Given the description of an element on the screen output the (x, y) to click on. 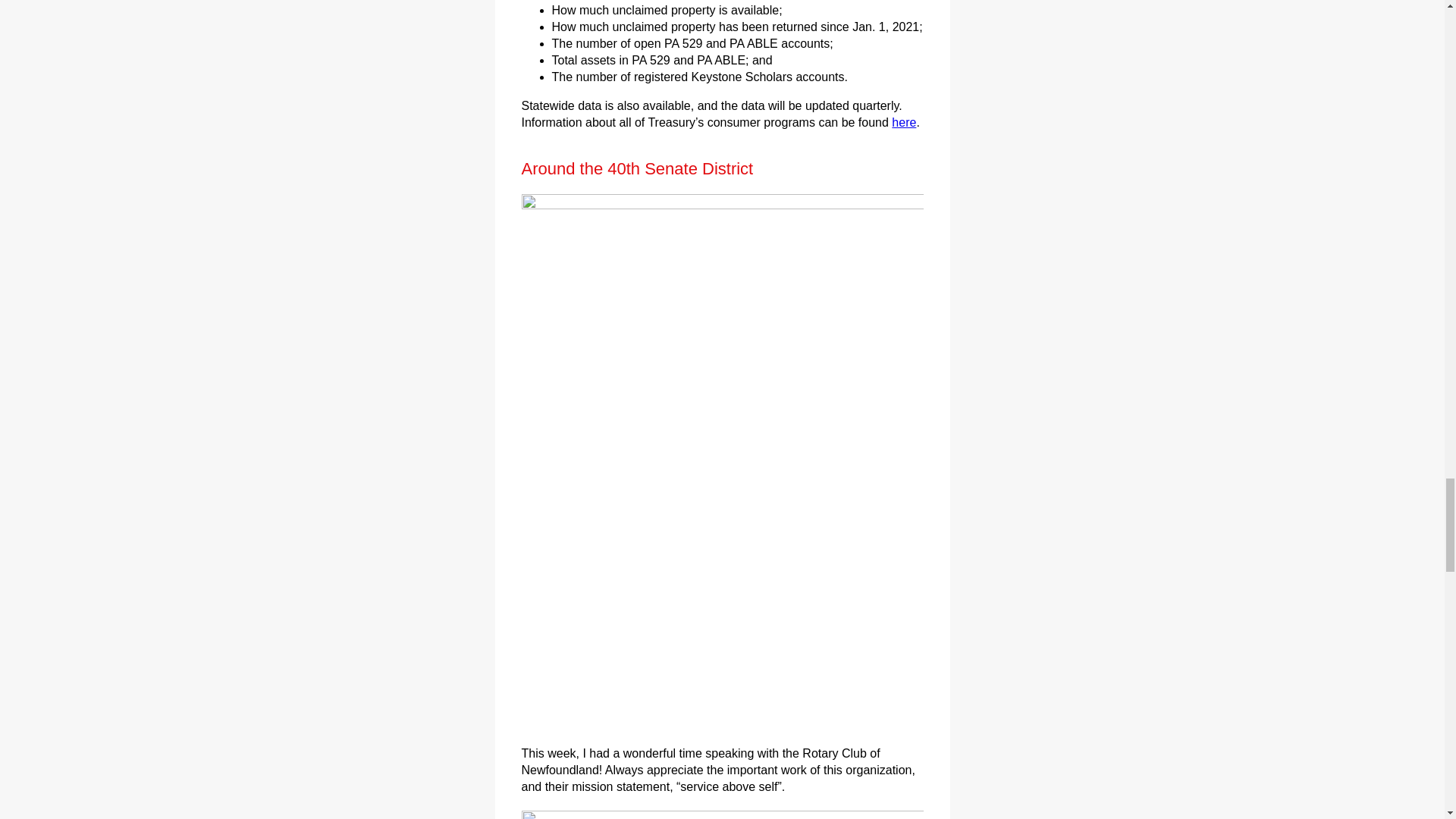
here (903, 122)
